Given the description of an element on the screen output the (x, y) to click on. 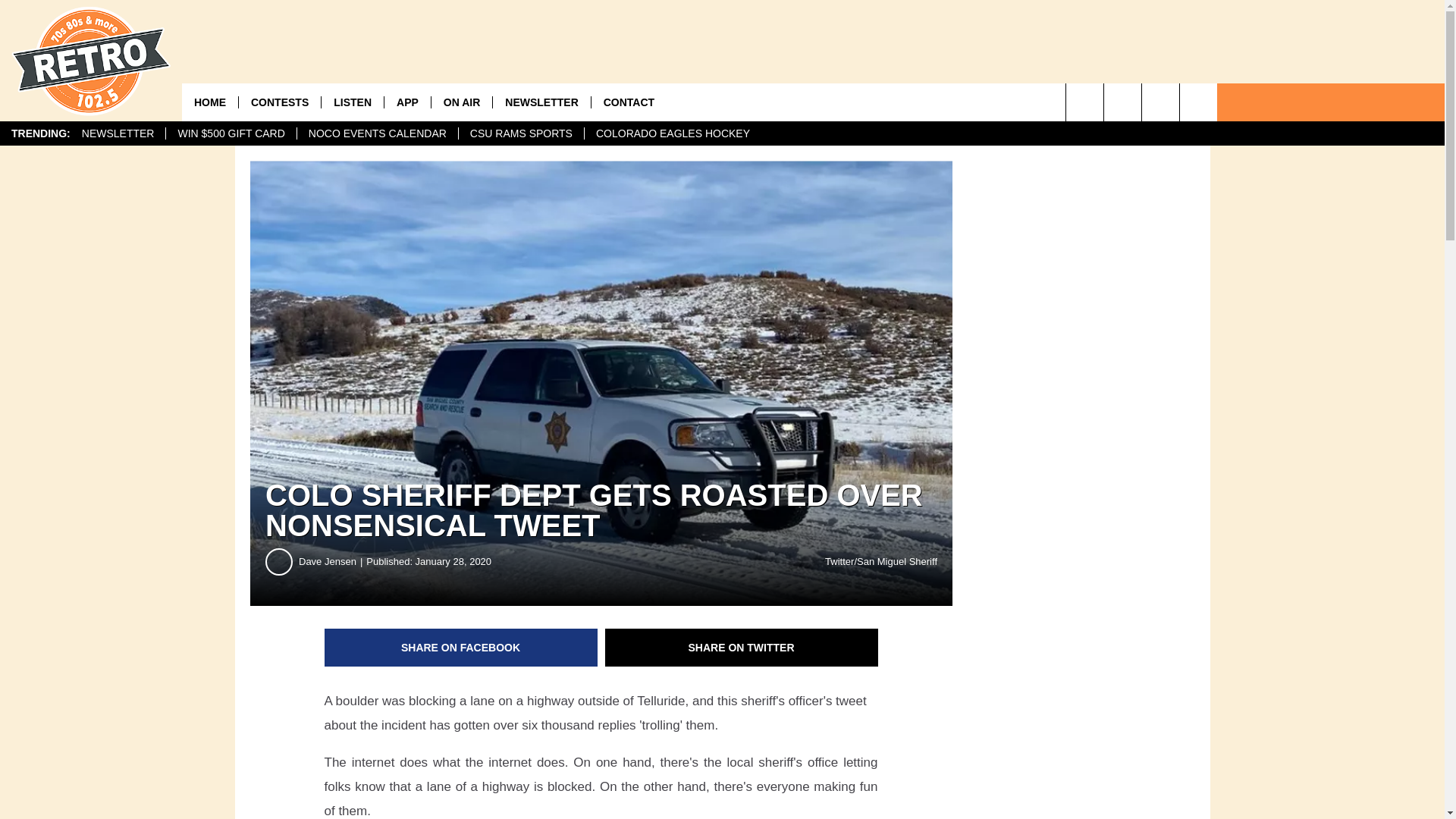
Share on Facebook (460, 647)
Share on Twitter (741, 647)
COLORADO EAGLES HOCKEY (672, 133)
ON AIR (461, 102)
CONTESTS (279, 102)
APP (407, 102)
NEWSLETTER (540, 102)
NOCO EVENTS CALENDAR (377, 133)
HOME (210, 102)
LISTEN (352, 102)
